Given the description of an element on the screen output the (x, y) to click on. 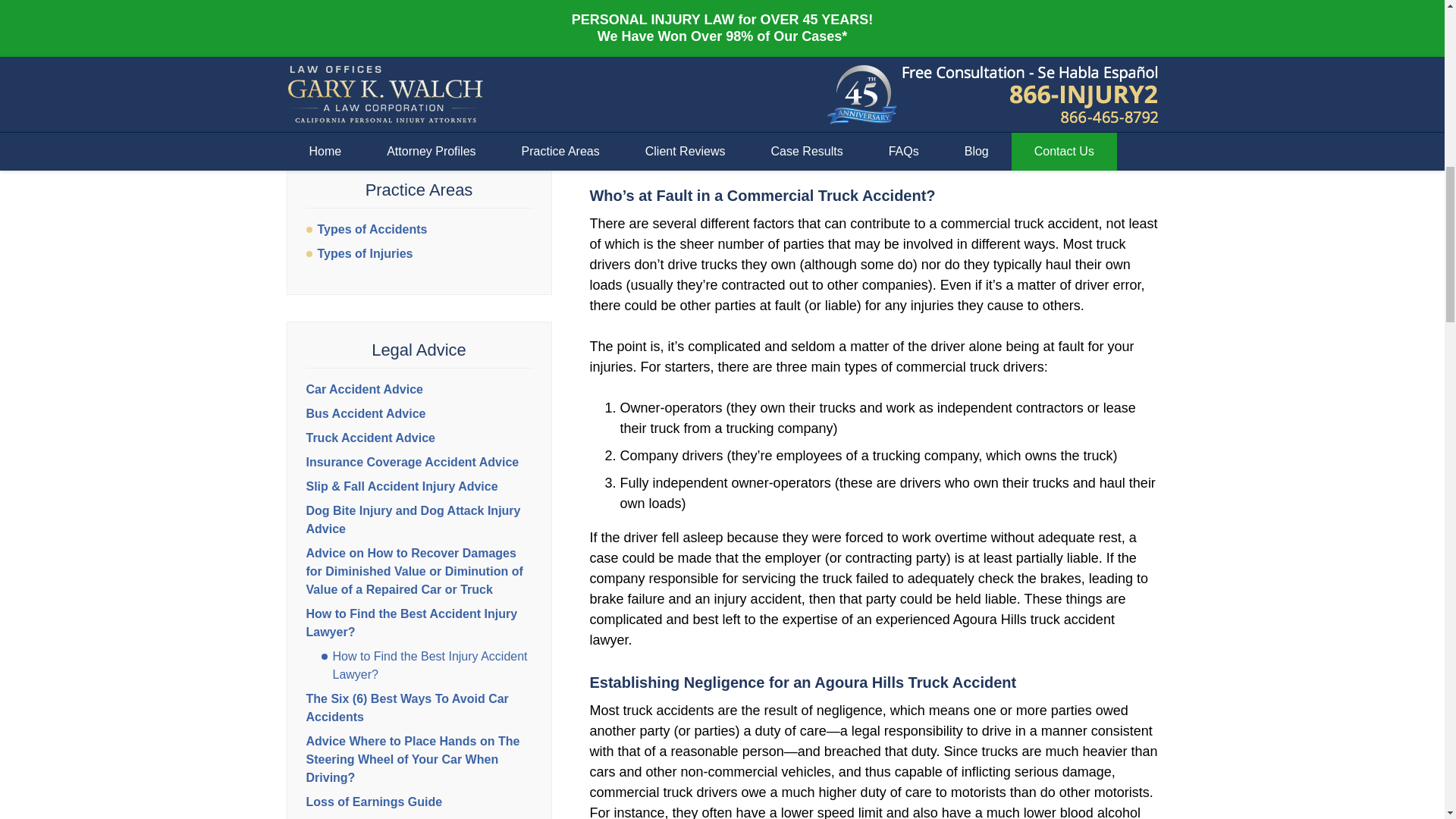
CONTACT US NOW (418, 96)
Types of Injuries (418, 253)
Legal Advice (418, 349)
Types of Accidents (418, 229)
Practice Areas (419, 189)
Car Accident Advice (364, 389)
experienced Agoura Hills truck accident lawyer (872, 81)
